Given the description of an element on the screen output the (x, y) to click on. 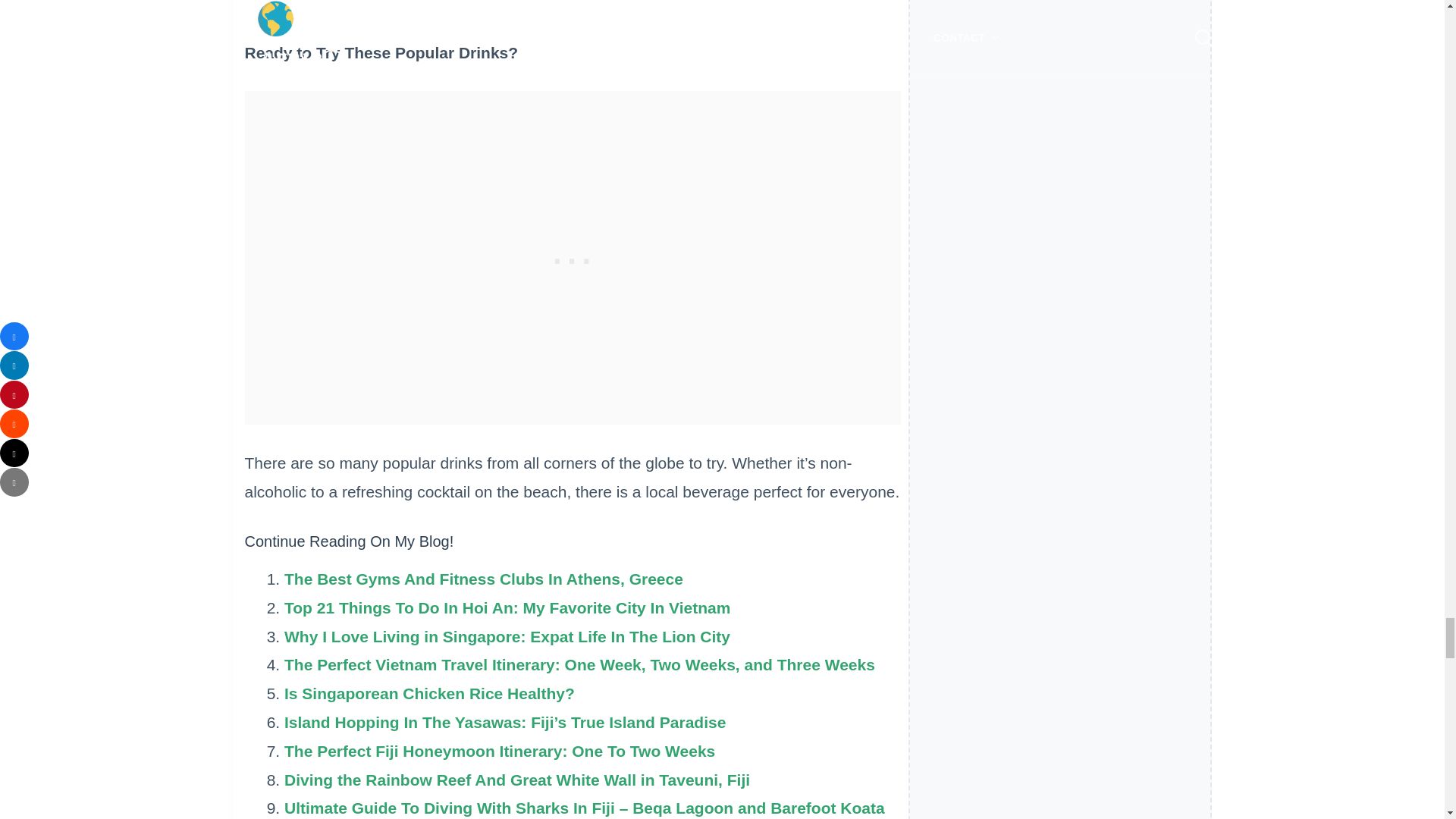
The Best Gyms And Fitness Clubs In Athens, Greece (482, 579)
The Perfect Fiji Honeymoon Itinerary: One To Two Weeks (498, 751)
Why I Love Living in Singapore: Expat Life In The Lion City (506, 636)
Top 21 Things To Do In Hoi An: My Favorite City In Vietnam (506, 607)
Is Singaporean Chicken Rice Healthy? (429, 692)
